Given the description of an element on the screen output the (x, y) to click on. 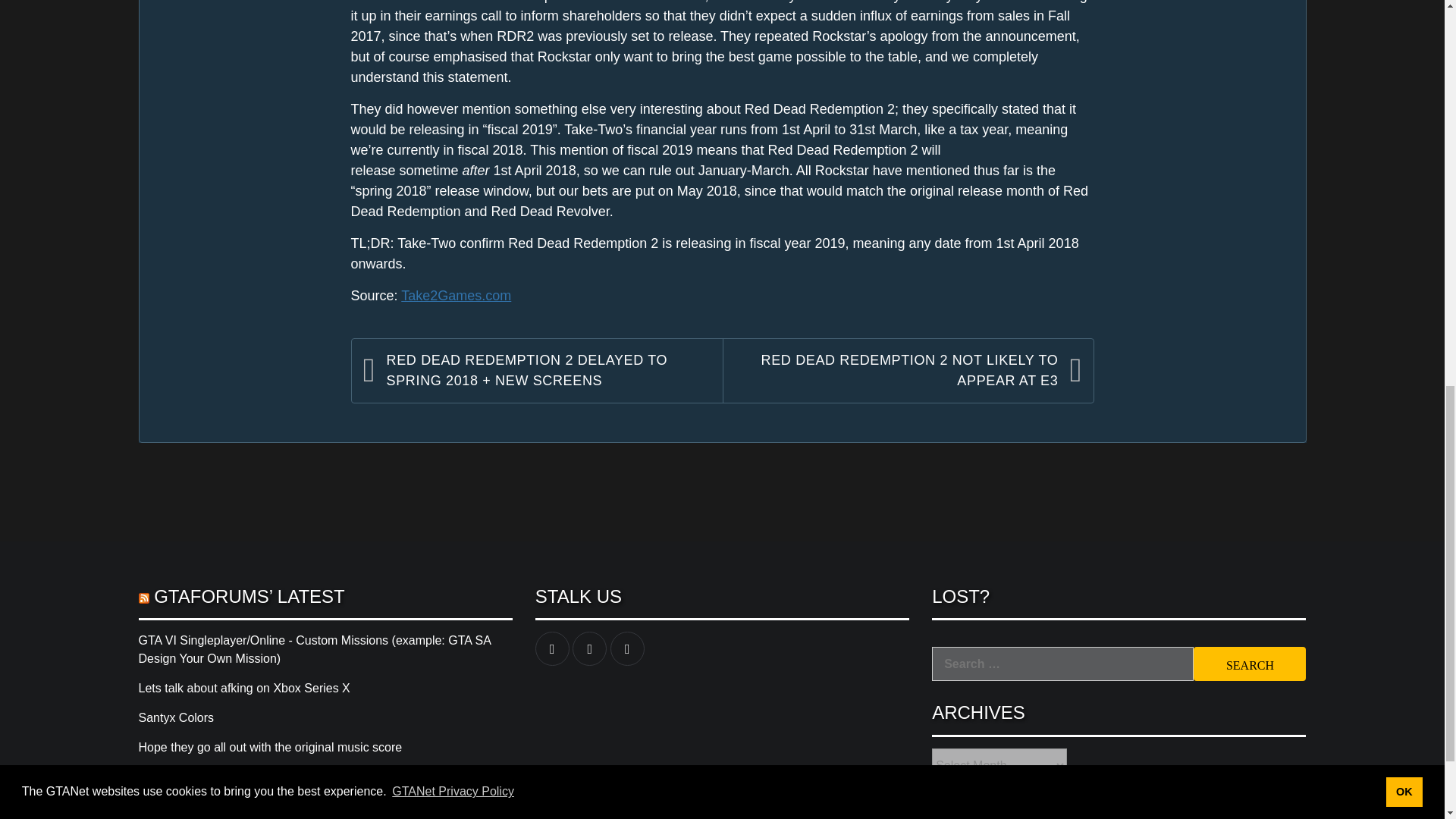
Take2Games.com (456, 295)
Search (1249, 663)
Search (1249, 663)
RED DEAD REDEMPTION 2 NOT LIKELY TO APPEAR AT E3 (898, 370)
